Given the description of an element on the screen output the (x, y) to click on. 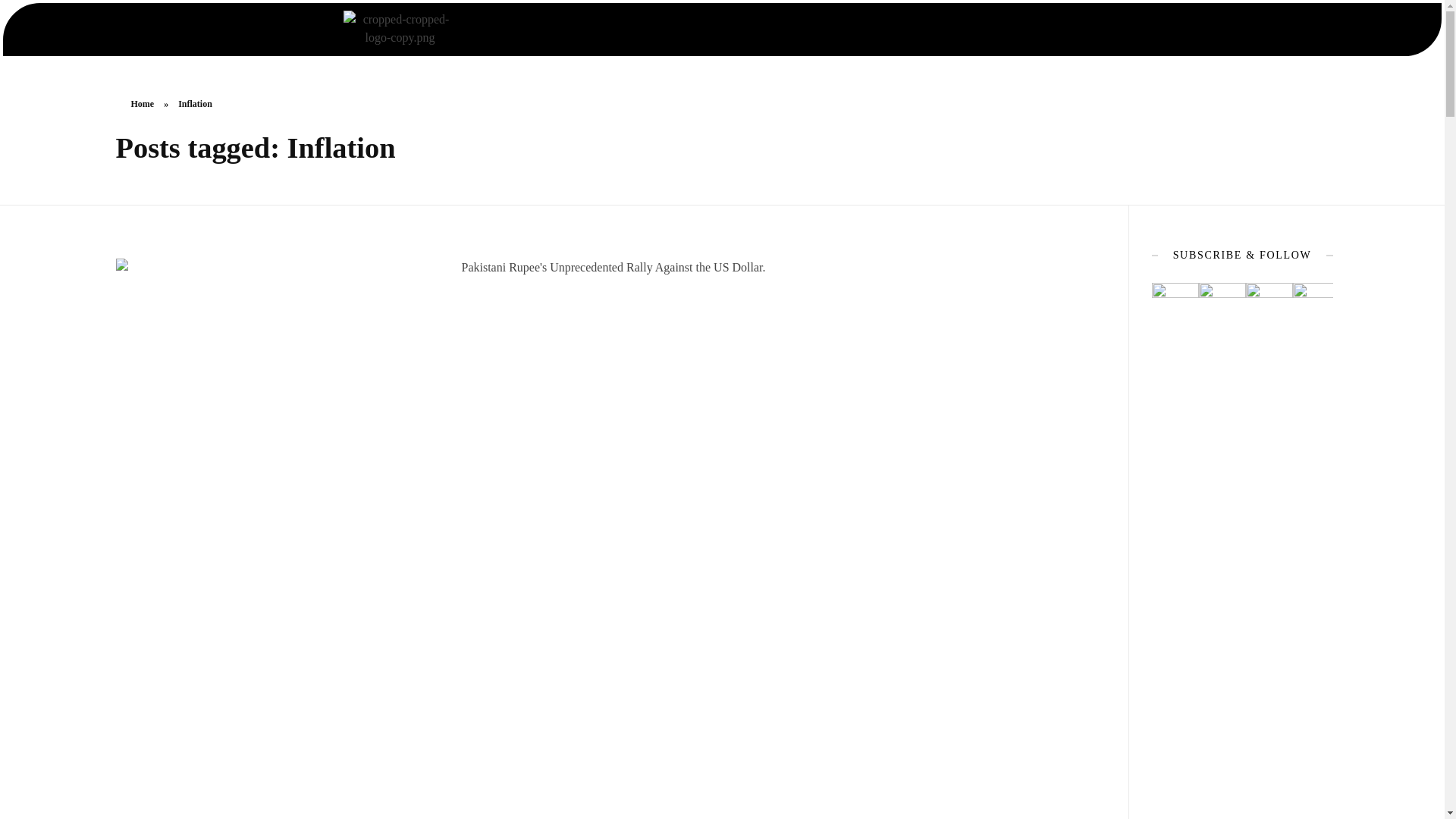
Home (142, 103)
